Given the description of an element on the screen output the (x, y) to click on. 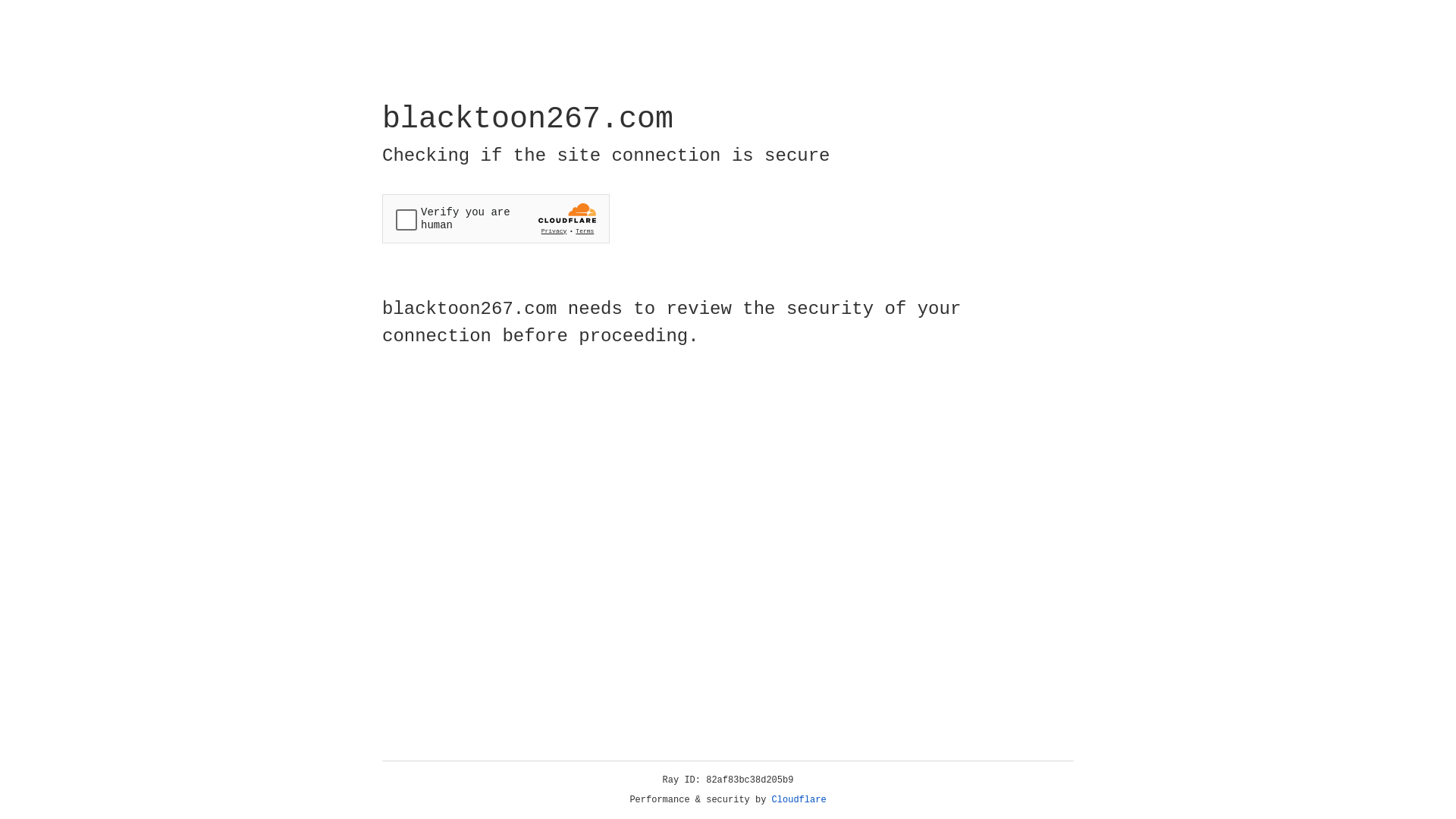
Widget containing a Cloudflare security challenge Element type: hover (495, 218)
Cloudflare Element type: text (798, 799)
